Given the description of an element on the screen output the (x, y) to click on. 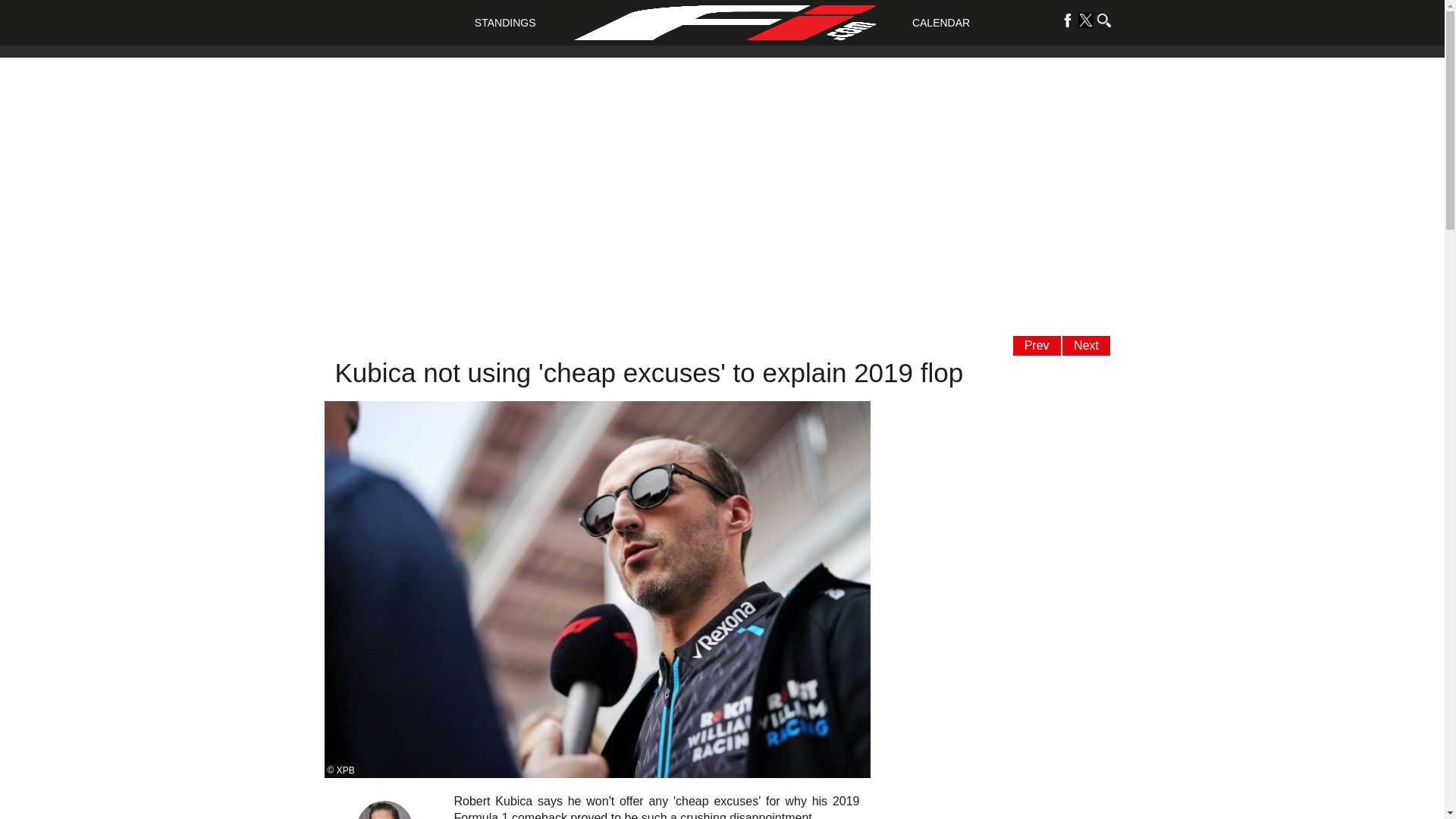
CALENDAR (940, 22)
STANDINGS (504, 22)
